Given the description of an element on the screen output the (x, y) to click on. 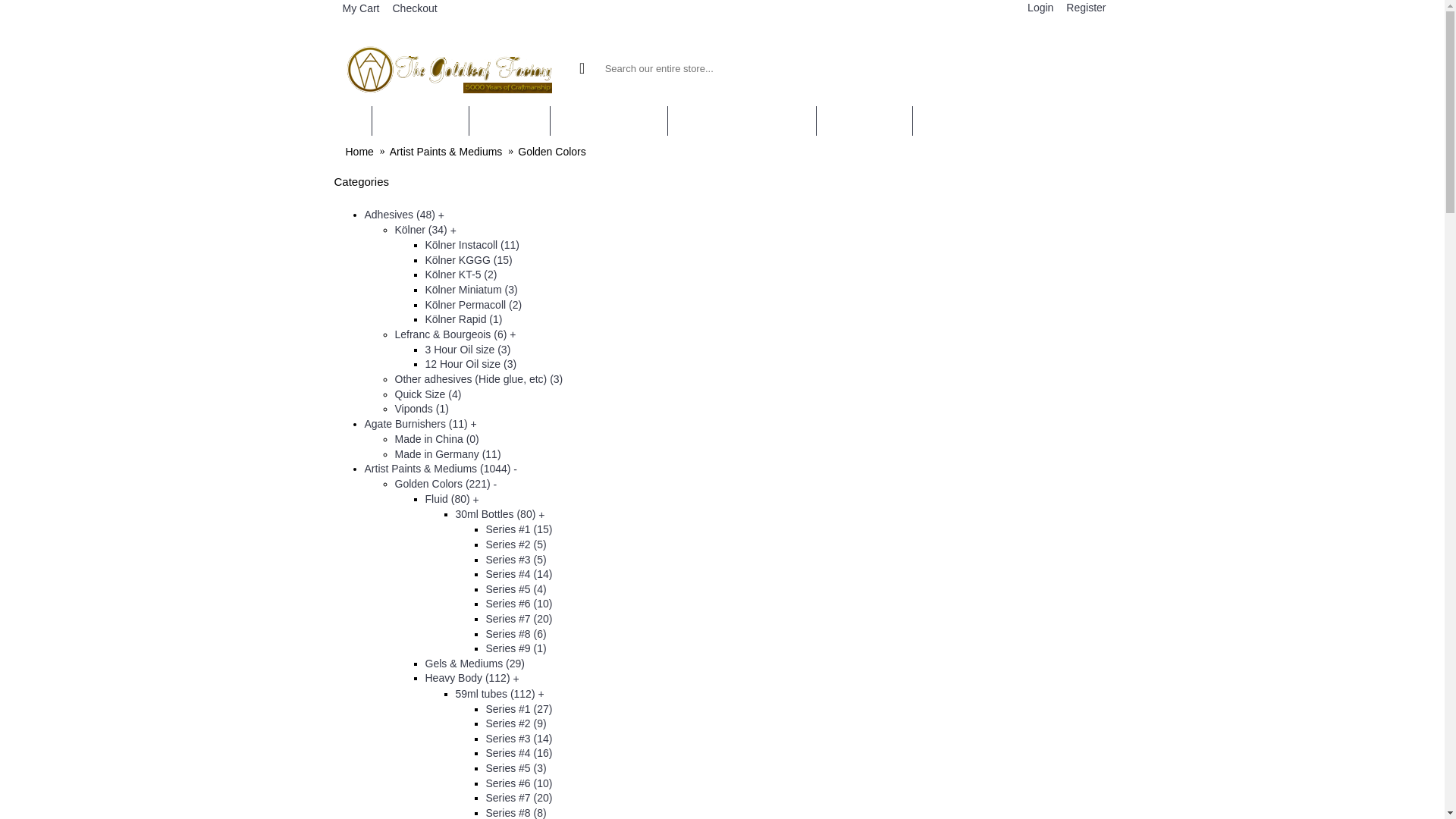
The Gold leaf Factory International Element type: hover (450, 68)
30ml Bottles (80) + Element type: text (499, 514)
3 Hour Oil size (3) Element type: text (467, 349)
Series #9 (1) Element type: text (515, 648)
Series #4 (14) Element type: text (518, 573)
Checkout Element type: text (412, 8)
59ml tubes (112) + Element type: text (499, 693)
Register Element type: text (1083, 8)
Series #5 (3) Element type: text (515, 768)
Series #8 (6) Element type: text (515, 633)
Series #2 (5) Element type: text (515, 544)
CONTACT US Element type: text (864, 120)
Heavy Body (112) + Element type: text (471, 677)
Series #5 (4) Element type: text (515, 589)
Adhesives (48) + Element type: text (403, 214)
Golden Colors (221) - Element type: text (445, 483)
Lefranc & Bourgeois (6) + Element type: text (454, 334)
Artist Paints & Mediums Element type: text (445, 151)
Agate Burnishers (11) + Element type: text (420, 423)
My Cart Element type: text (358, 9)
Artist Paints & Mediums (1044) - Element type: text (440, 468)
Gels & Mediums (29) Element type: text (474, 663)
PRIVACY POLICY Element type: text (608, 120)
Fluid (80) + Element type: text (451, 498)
Other adhesives (Hide glue, etc) (3) Element type: text (478, 379)
12 Hour Oil size (3) Element type: text (470, 363)
CATEGORIES Element type: text (419, 120)
Series #6 (10) Element type: text (518, 783)
Series #7 (20) Element type: text (518, 618)
Viponds (1) Element type: text (421, 408)
TERMS & CONDITIONS Element type: text (741, 120)
Series #3 (14) Element type: text (518, 738)
ABOUT US Element type: text (509, 120)
Made in Germany (11) Element type: text (447, 453)
Series #1 (27) Element type: text (518, 708)
0 item(s) - $0.00 Element type: text (1013, 68)
Login Element type: text (1038, 8)
Series #3 (5) Element type: text (515, 559)
Home Element type: text (359, 151)
Series #2 (9) Element type: text (515, 723)
Series #4 (16) Element type: text (518, 752)
Series #7 (20) Element type: text (518, 797)
Quick Size (4) Element type: text (427, 394)
Golden Colors Element type: text (551, 151)
Made in China (0) Element type: text (436, 439)
Series #6 (10) Element type: text (518, 603)
Series #1 (15) Element type: text (518, 529)
